Given the description of an element on the screen output the (x, y) to click on. 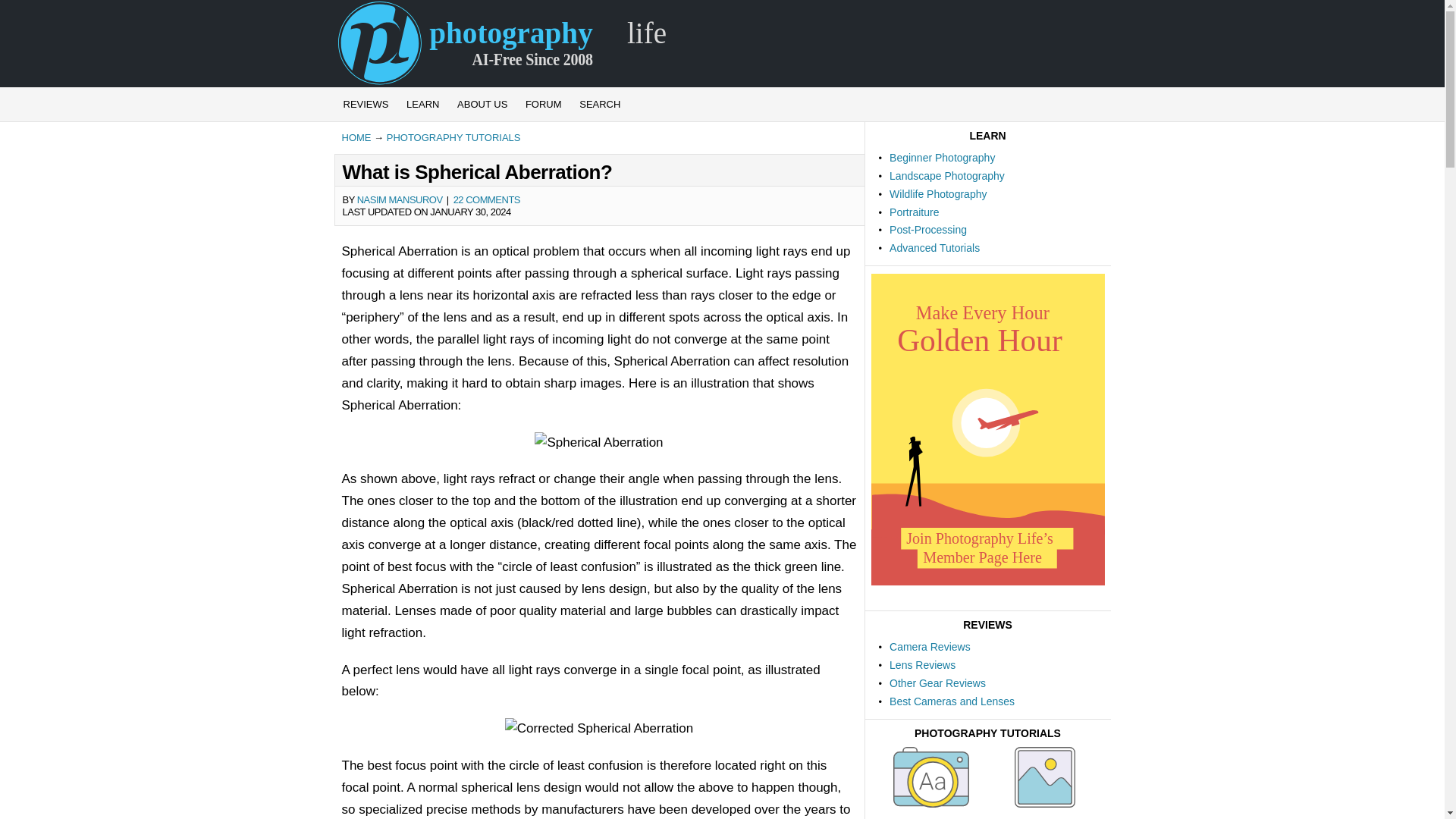
22 COMMENTS (485, 199)
ABOUT US (482, 104)
NASIM MANSUROV (399, 199)
Search (599, 104)
SEARCH (599, 104)
HOME (355, 137)
REVIEWS (365, 104)
PHOTOGRAPHY LIFE (502, 43)
About Us (482, 104)
PHOTOGRAPHY TUTORIALS (454, 137)
FORUM (543, 104)
LEARN (422, 104)
